Given the description of an element on the screen output the (x, y) to click on. 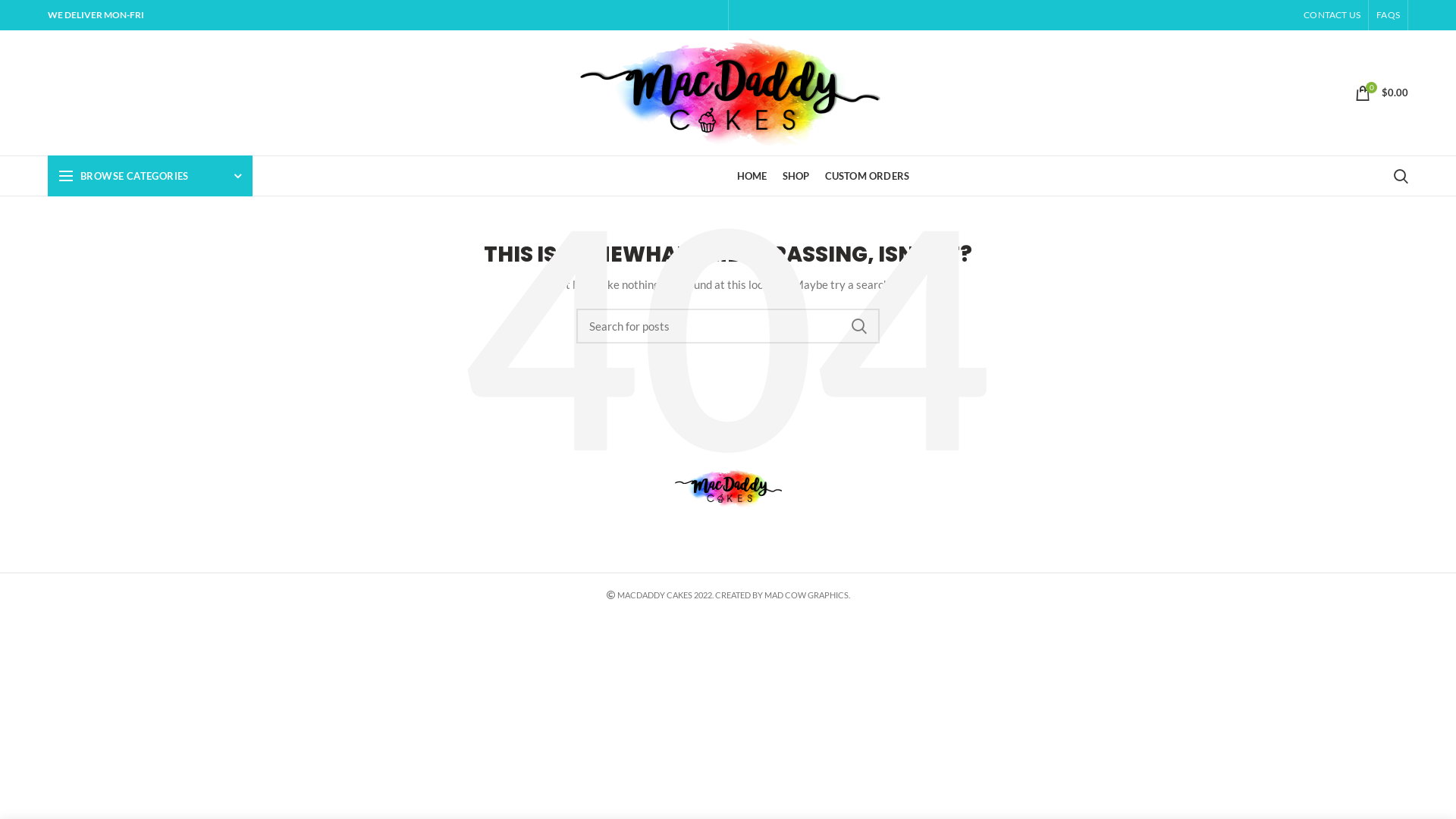
SEARCH Element type: text (859, 325)
Search Element type: hover (1400, 175)
SHOP Element type: text (796, 175)
CONTACT US Element type: text (1331, 15)
FAQS Element type: text (1387, 15)
0
$0.00 Element type: text (1381, 92)
HOME Element type: text (752, 175)
CUSTOM ORDERS Element type: text (867, 175)
